Given the description of an element on the screen output the (x, y) to click on. 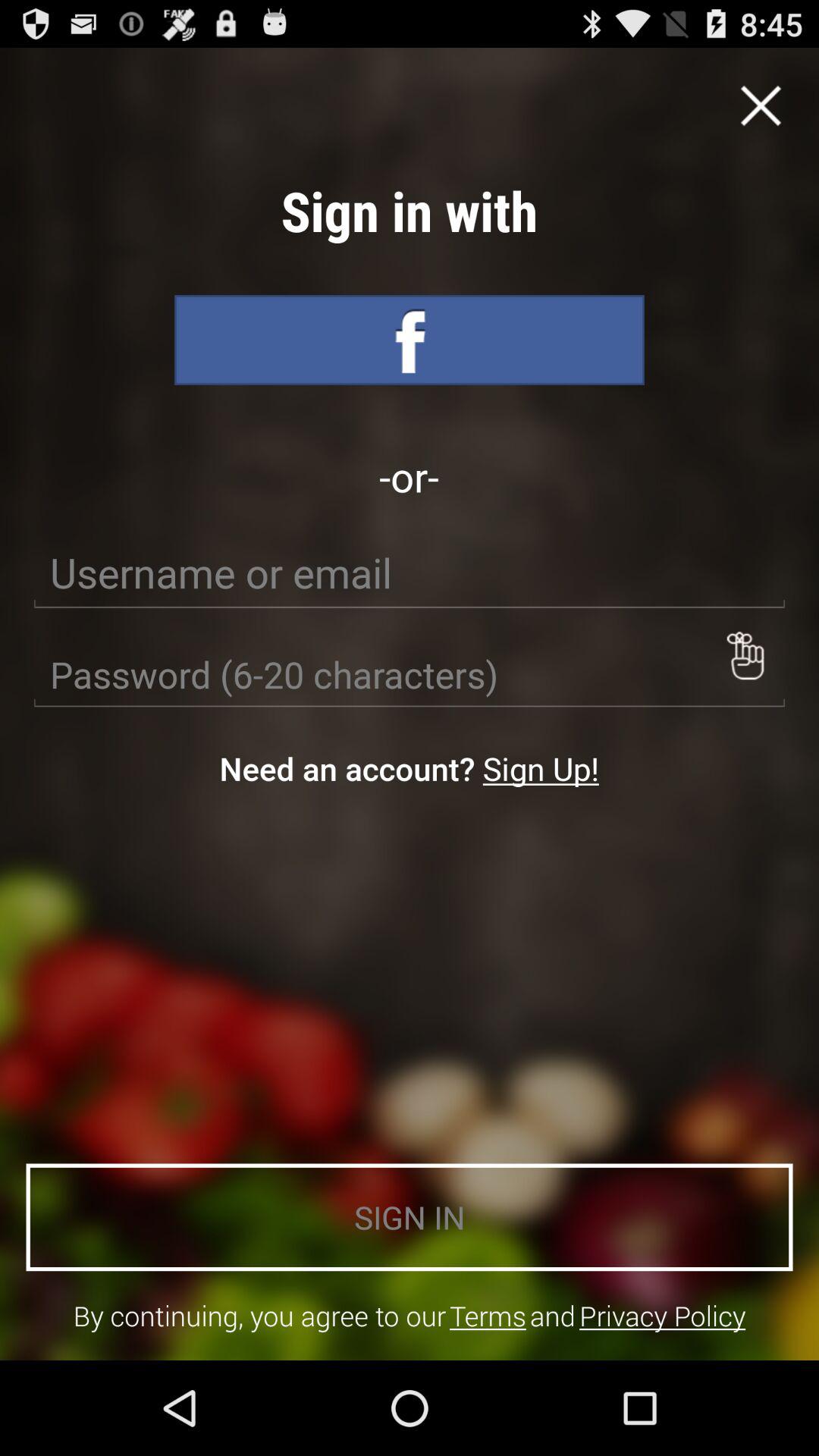
turn off icon next to the and item (487, 1315)
